Given the description of an element on the screen output the (x, y) to click on. 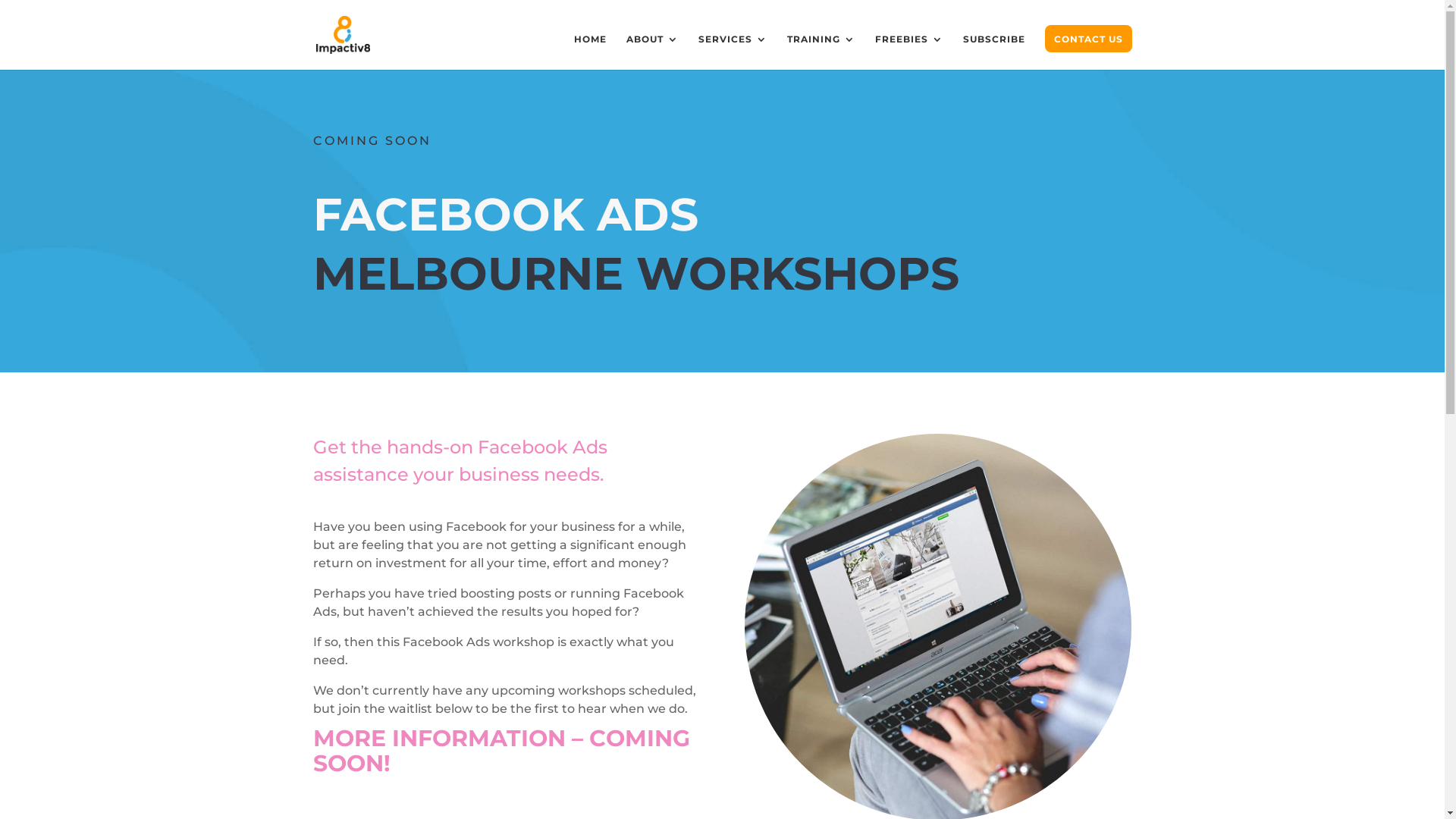
ABOUT Element type: text (652, 51)
TRAINING Element type: text (821, 51)
HOME Element type: text (589, 51)
SERVICES Element type: text (731, 51)
CONTACT US Element type: text (1088, 51)
FREEBIES Element type: text (909, 51)
SUBSCRIBE Element type: text (994, 51)
